Given the description of an element on the screen output the (x, y) to click on. 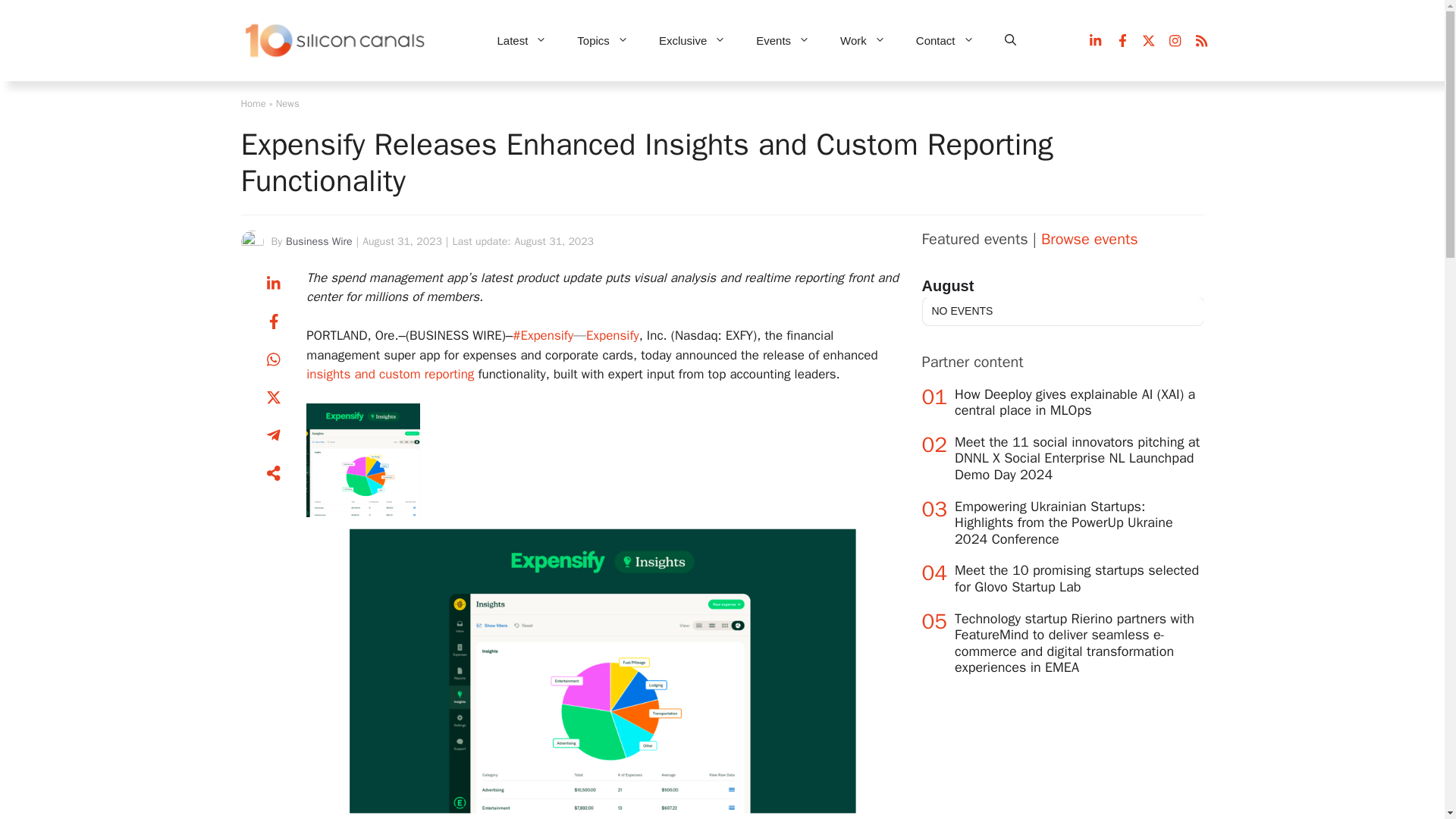
Exclusive (692, 40)
Topics (602, 40)
Latest (521, 40)
Events (783, 40)
SC 10 year horizontal (335, 40)
Work (863, 40)
